Given the description of an element on the screen output the (x, y) to click on. 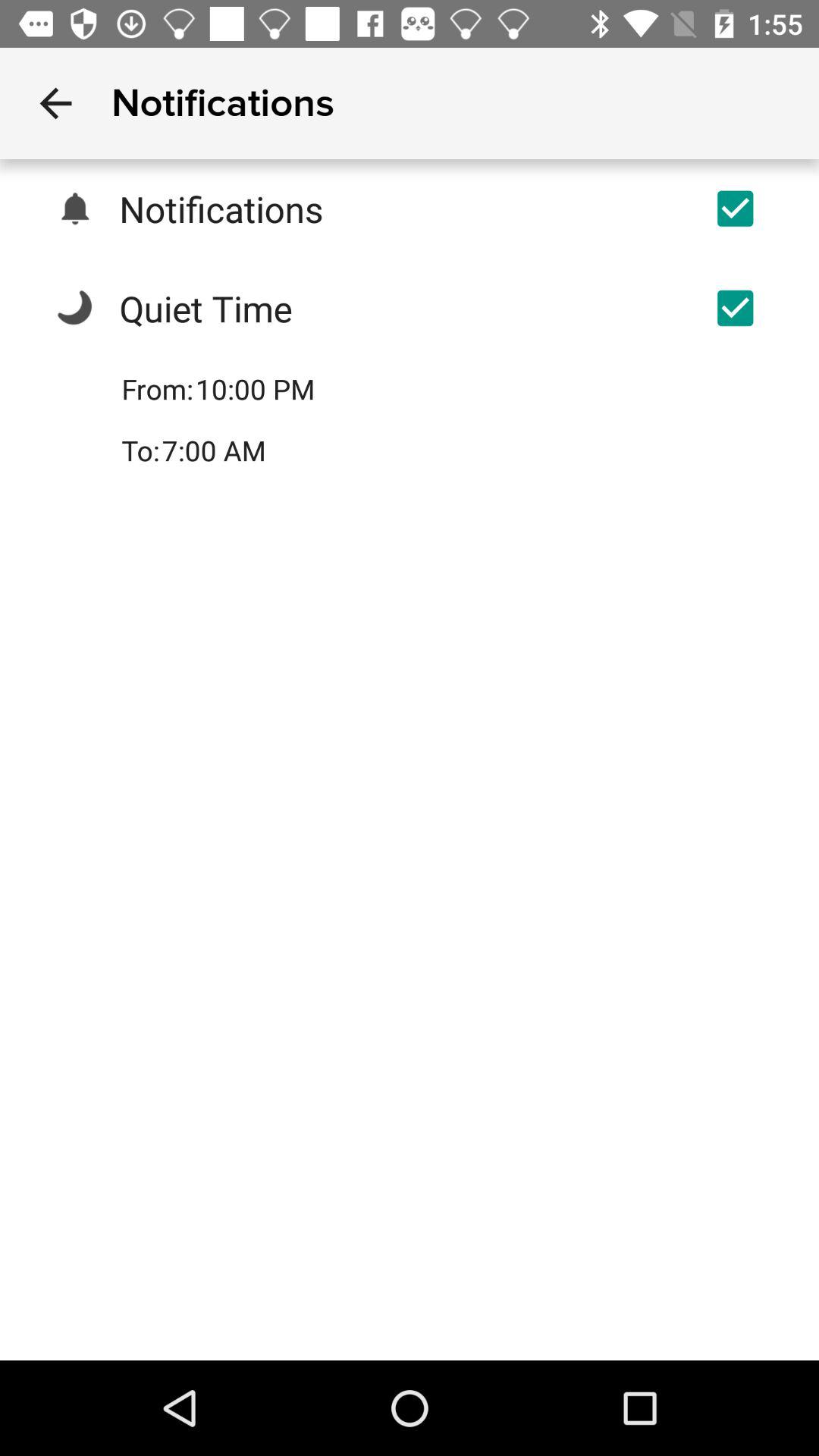
tap item next to notifications item (55, 103)
